Given the description of an element on the screen output the (x, y) to click on. 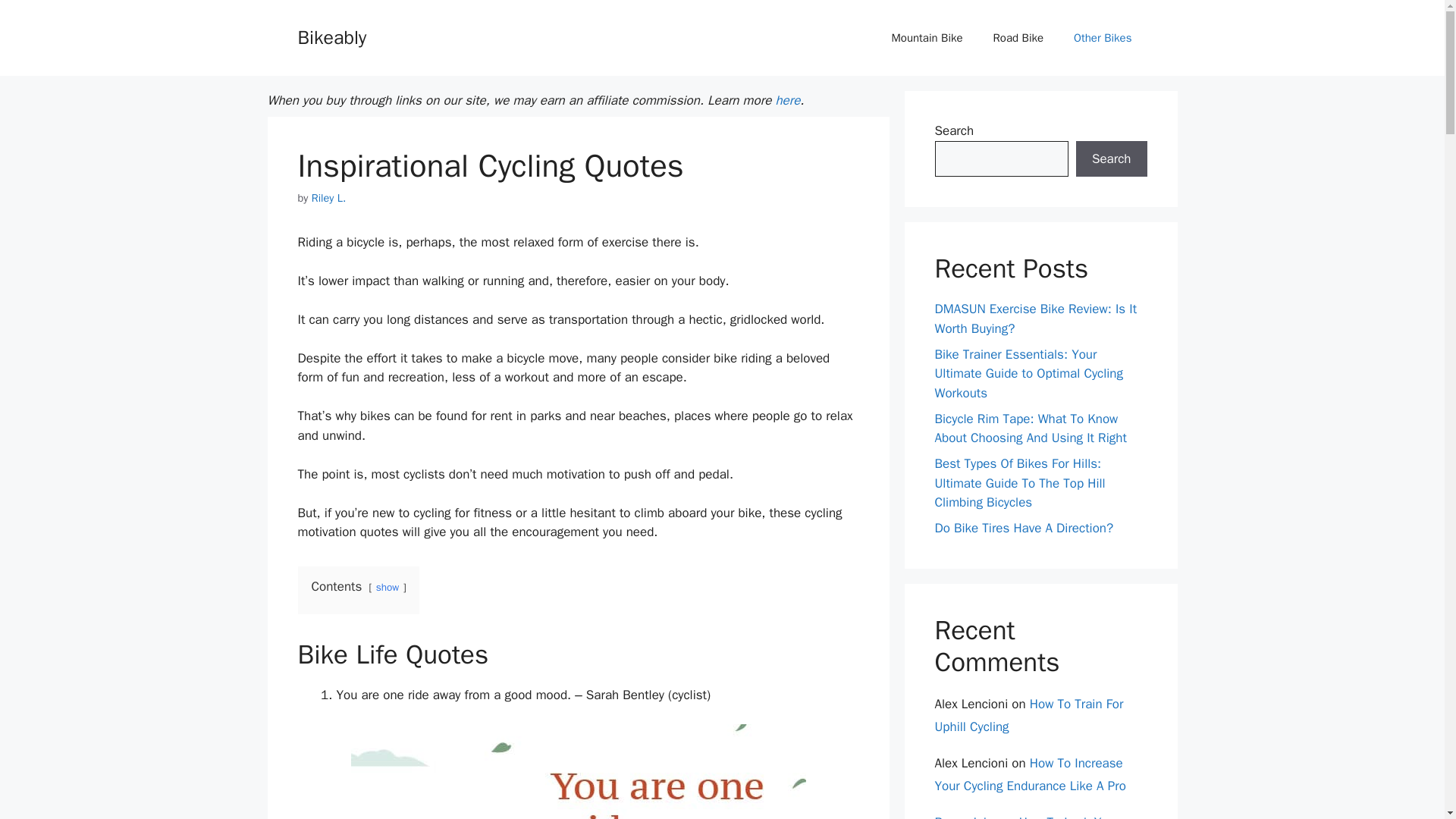
How To Increase Your Cycling Endurance Like A Pro (1029, 774)
Other Bikes (1102, 37)
here (786, 100)
Do Bike Tires Have A Direction? (1023, 528)
Riley L. (328, 197)
Road Bike (1018, 37)
Mountain Bike (927, 37)
Bruno John (965, 816)
Inspirational Cycling Quotes 1 (577, 771)
Bikeably (331, 37)
How To Train For Uphill Cycling (1028, 715)
DMASUN Exercise Bike Review: Is It Worth Buying? (1035, 318)
View all posts by Riley L. (328, 197)
Search (1111, 158)
